Given the description of an element on the screen output the (x, y) to click on. 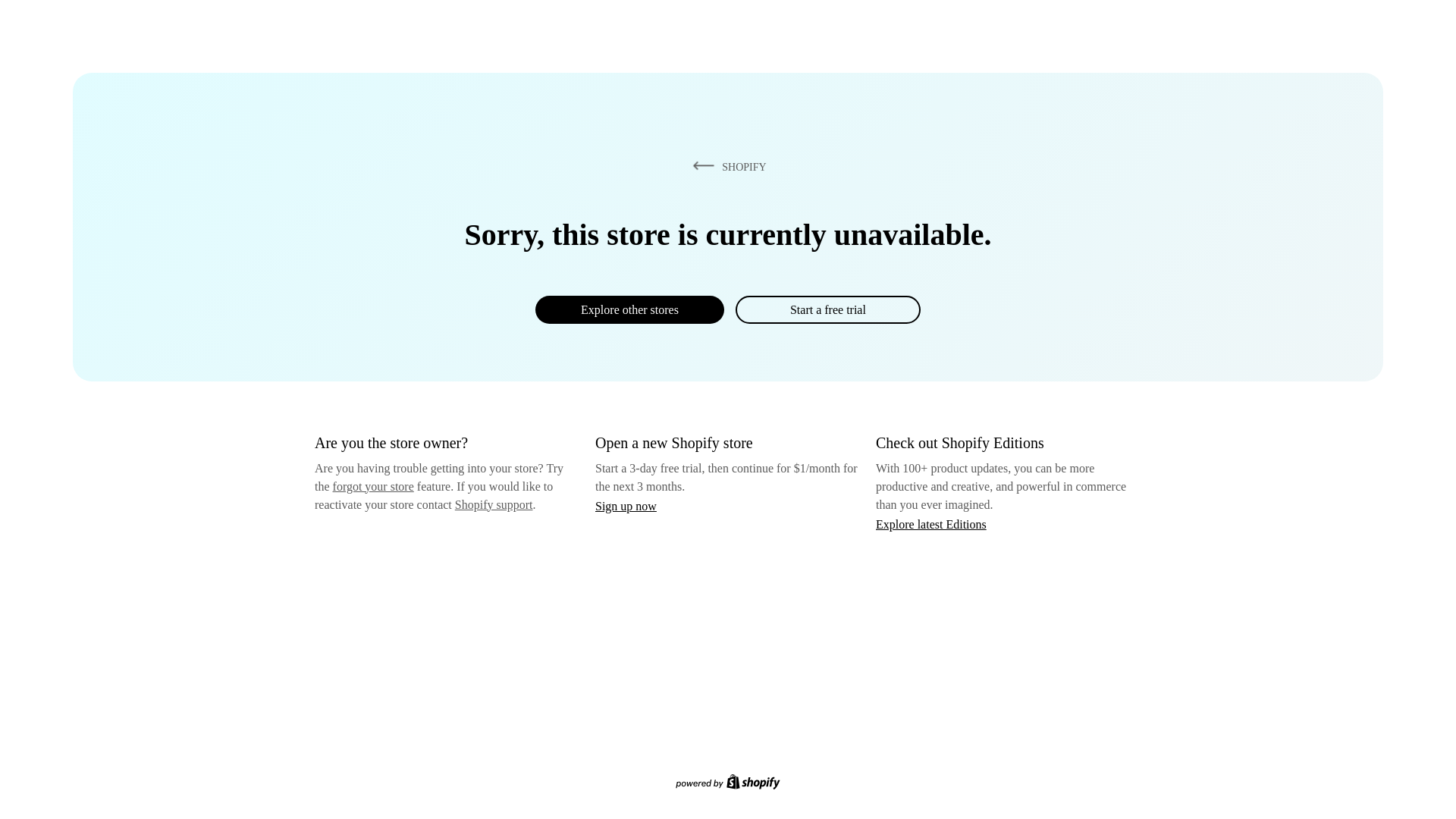
forgot your store (373, 486)
SHOPIFY (726, 166)
Explore other stores (629, 309)
Explore latest Editions (931, 523)
Shopify support (493, 504)
Sign up now (625, 505)
Start a free trial (827, 309)
